Given the description of an element on the screen output the (x, y) to click on. 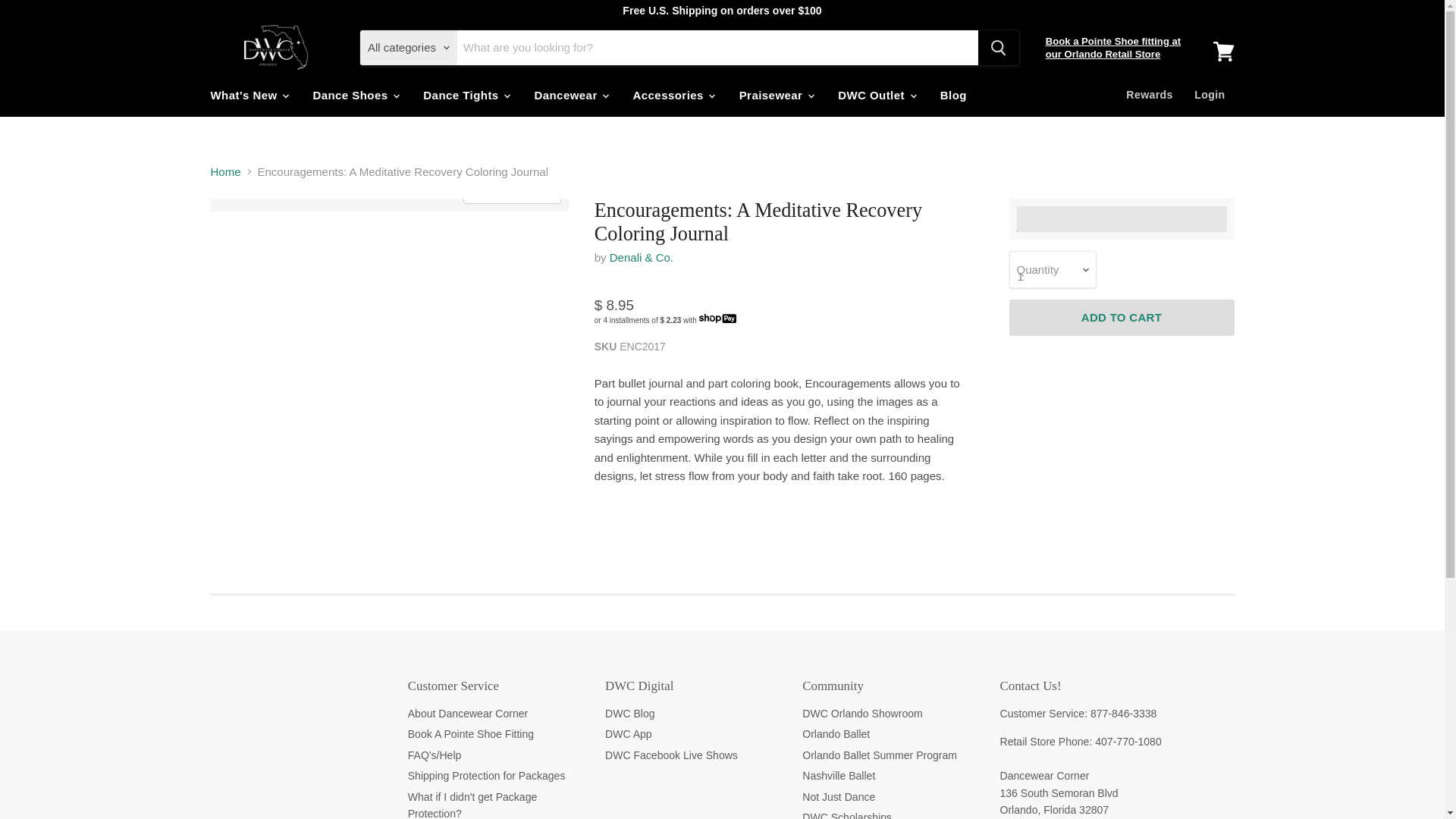
Book a Pointe Shoe fitting at our Orlando Retail Store (1112, 47)
What's New (248, 94)
Dance Shoes (355, 94)
View cart (1223, 51)
